Given the description of an element on the screen output the (x, y) to click on. 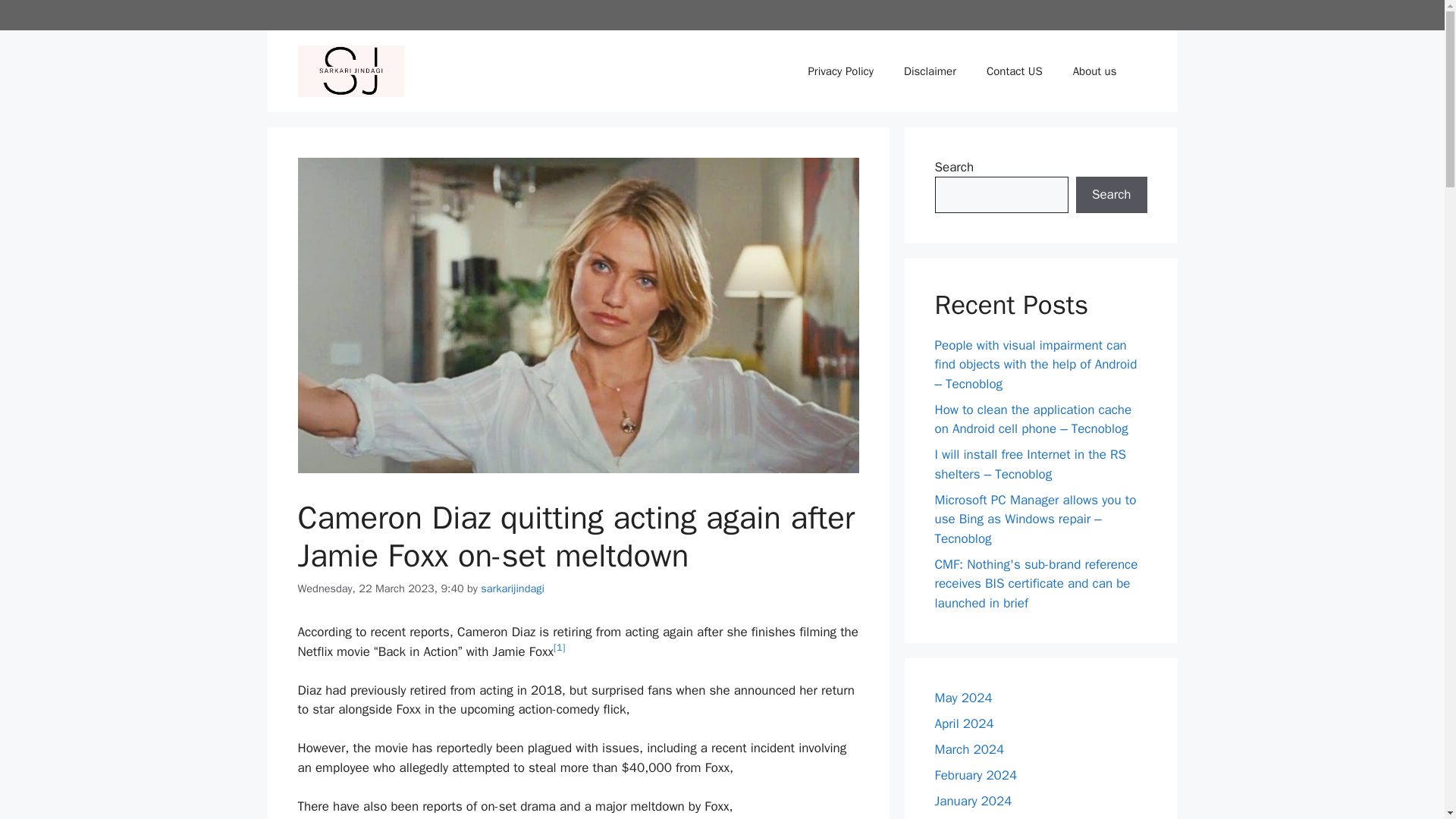
Privacy Policy (840, 71)
About us (1095, 71)
Disclaimer (929, 71)
January 2024 (972, 801)
April 2024 (963, 723)
sarkarijindagi (512, 588)
May 2024 (962, 697)
View all posts by sarkarijindagi (512, 588)
March 2024 (969, 749)
Contact US (1014, 71)
February 2024 (975, 774)
Search (1111, 194)
